Given the description of an element on the screen output the (x, y) to click on. 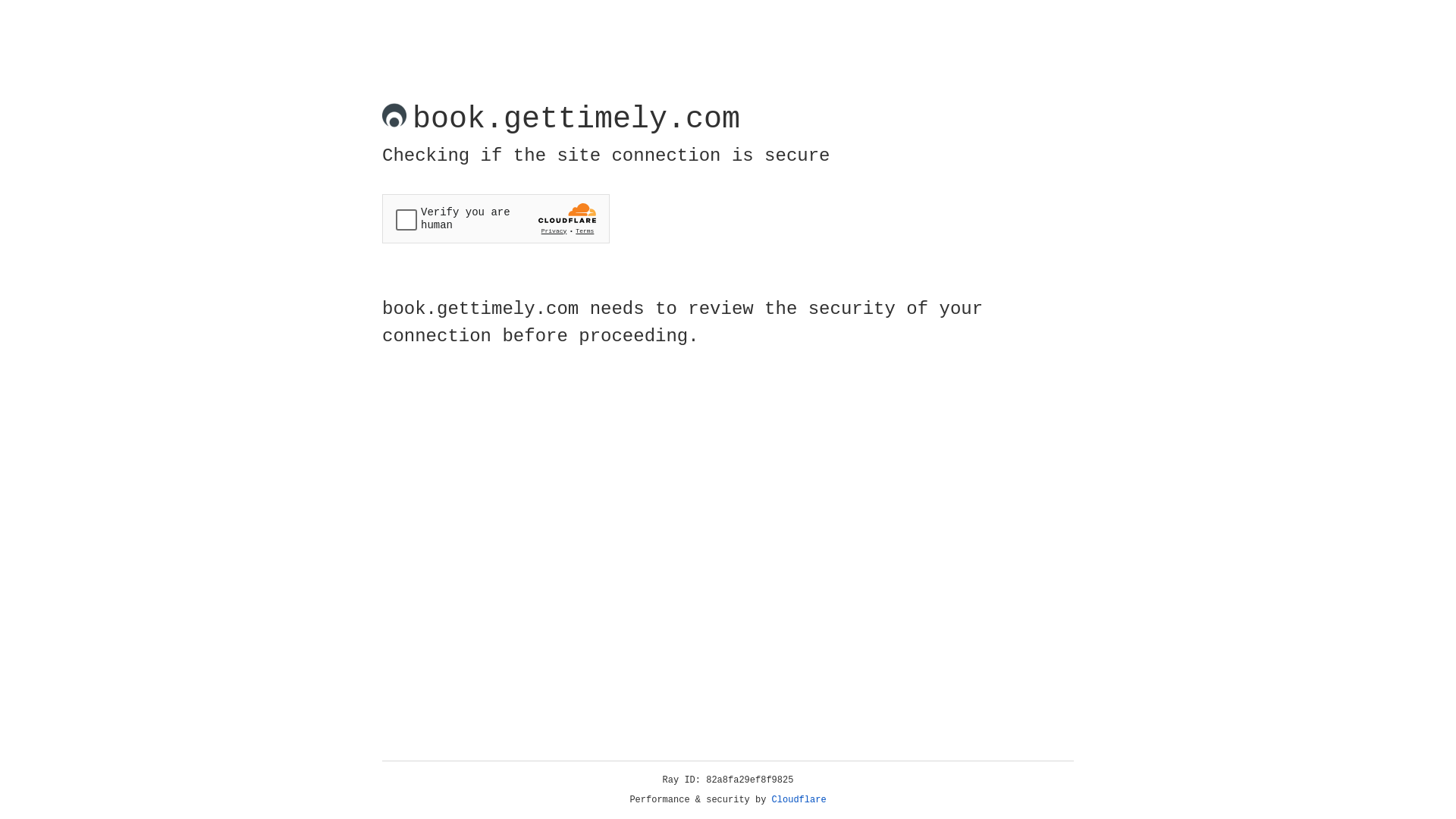
Cloudflare Element type: text (798, 799)
Widget containing a Cloudflare security challenge Element type: hover (495, 218)
